Given the description of an element on the screen output the (x, y) to click on. 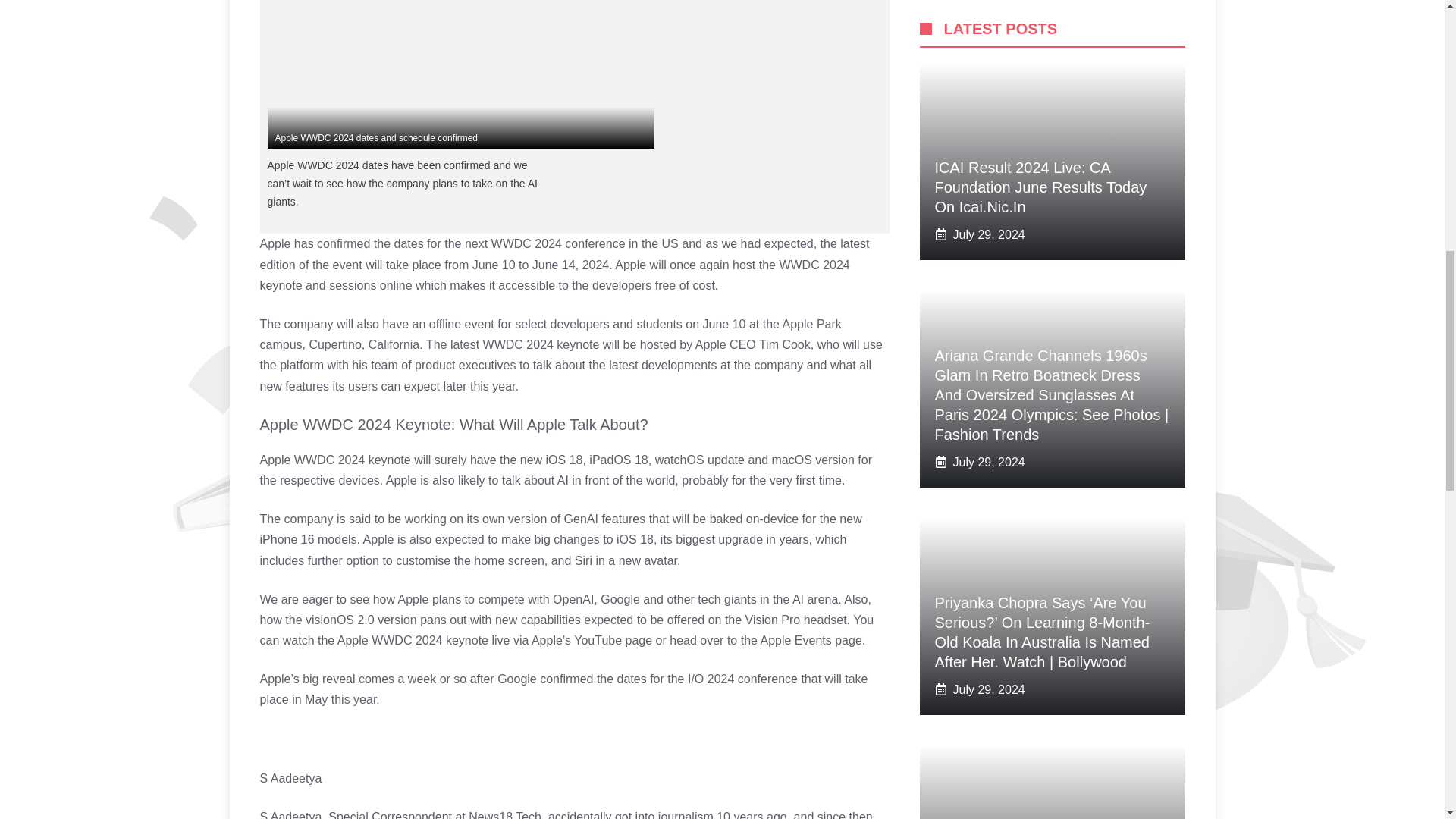
S Aadeetya (290, 778)
